Given the description of an element on the screen output the (x, y) to click on. 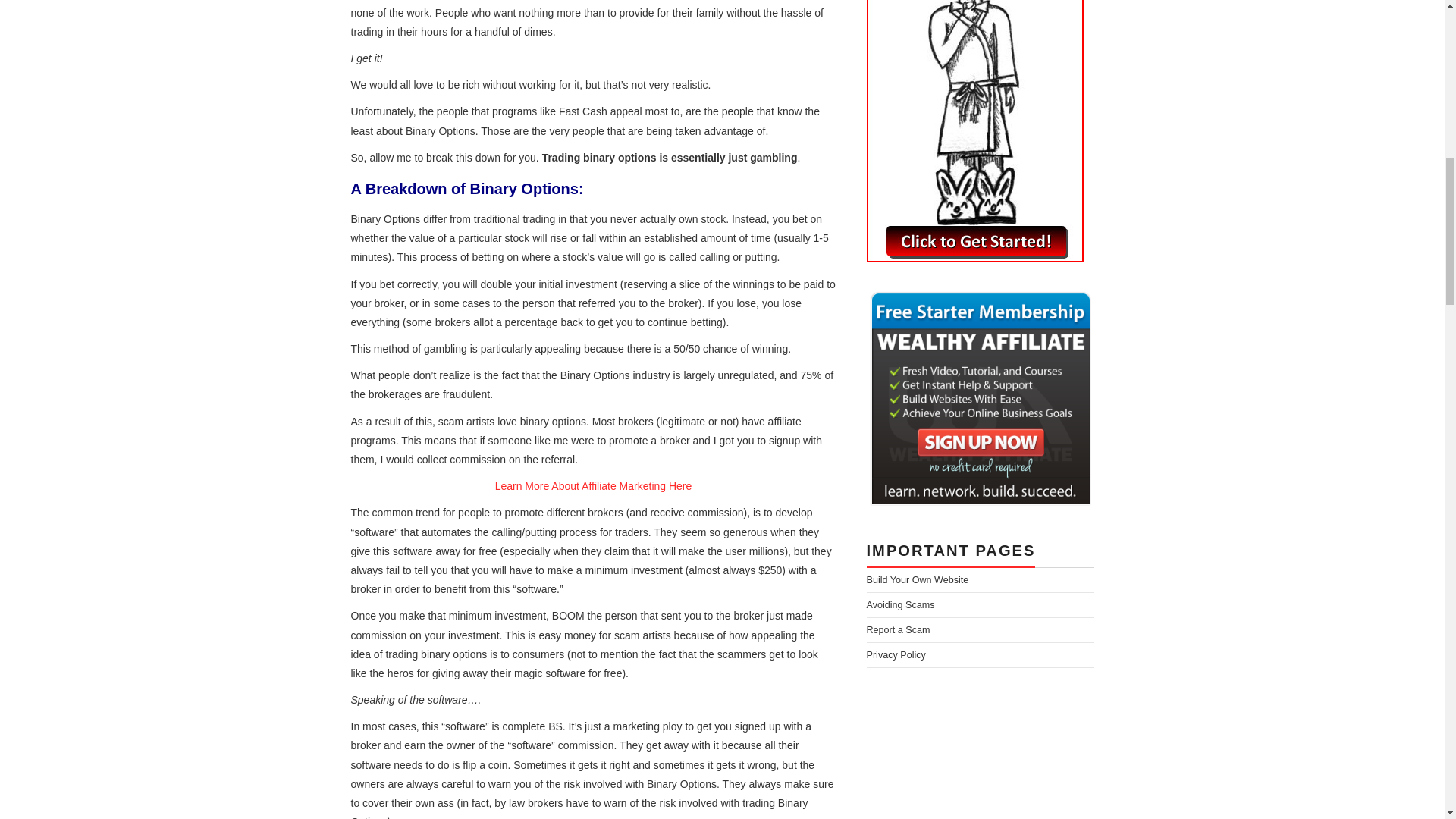
Report a Scam (898, 629)
Learn More About Affiliate Marketing Here (594, 485)
Privacy Policy (895, 655)
Avoiding Scams (900, 604)
Build Your Own Website (917, 579)
